Given the description of an element on the screen output the (x, y) to click on. 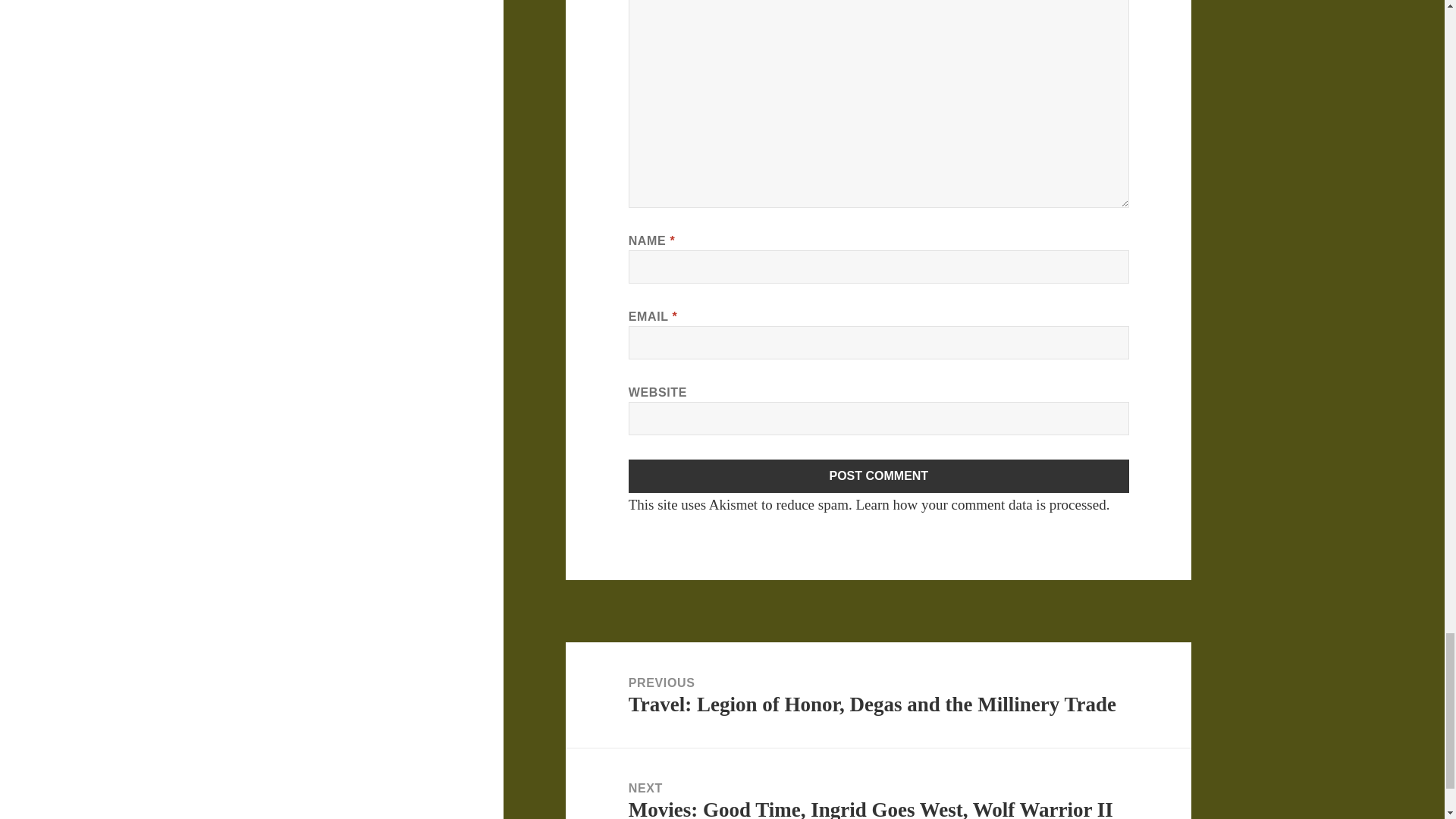
Post Comment (878, 476)
Learn how your comment data is processed (980, 504)
Post Comment (878, 476)
